Given the description of an element on the screen output the (x, y) to click on. 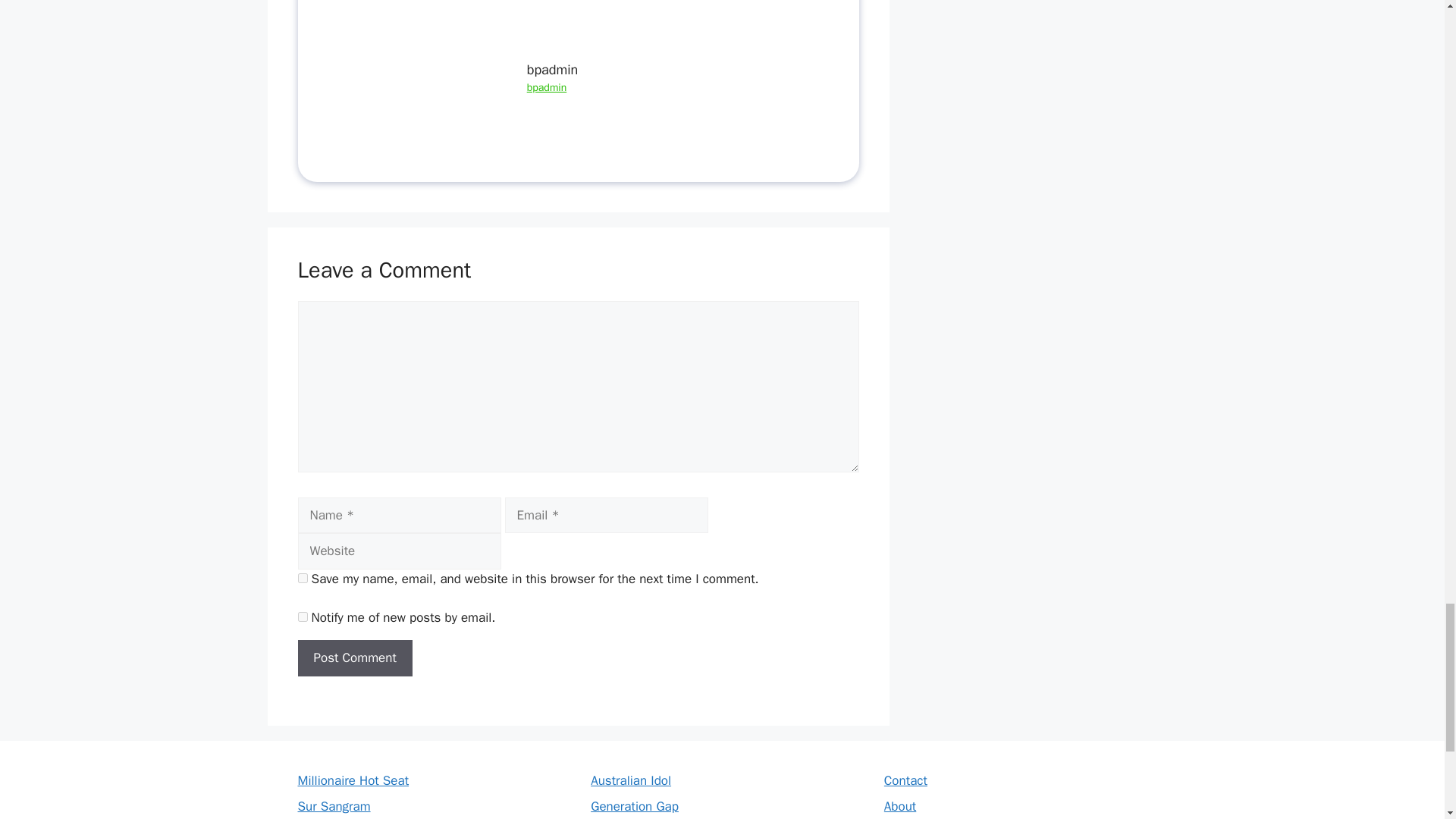
Posts by bpadmin (547, 87)
yes (302, 578)
subscribe (302, 616)
Post Comment (354, 657)
Post Comment (354, 657)
bpadmin (547, 87)
